Given the description of an element on the screen output the (x, y) to click on. 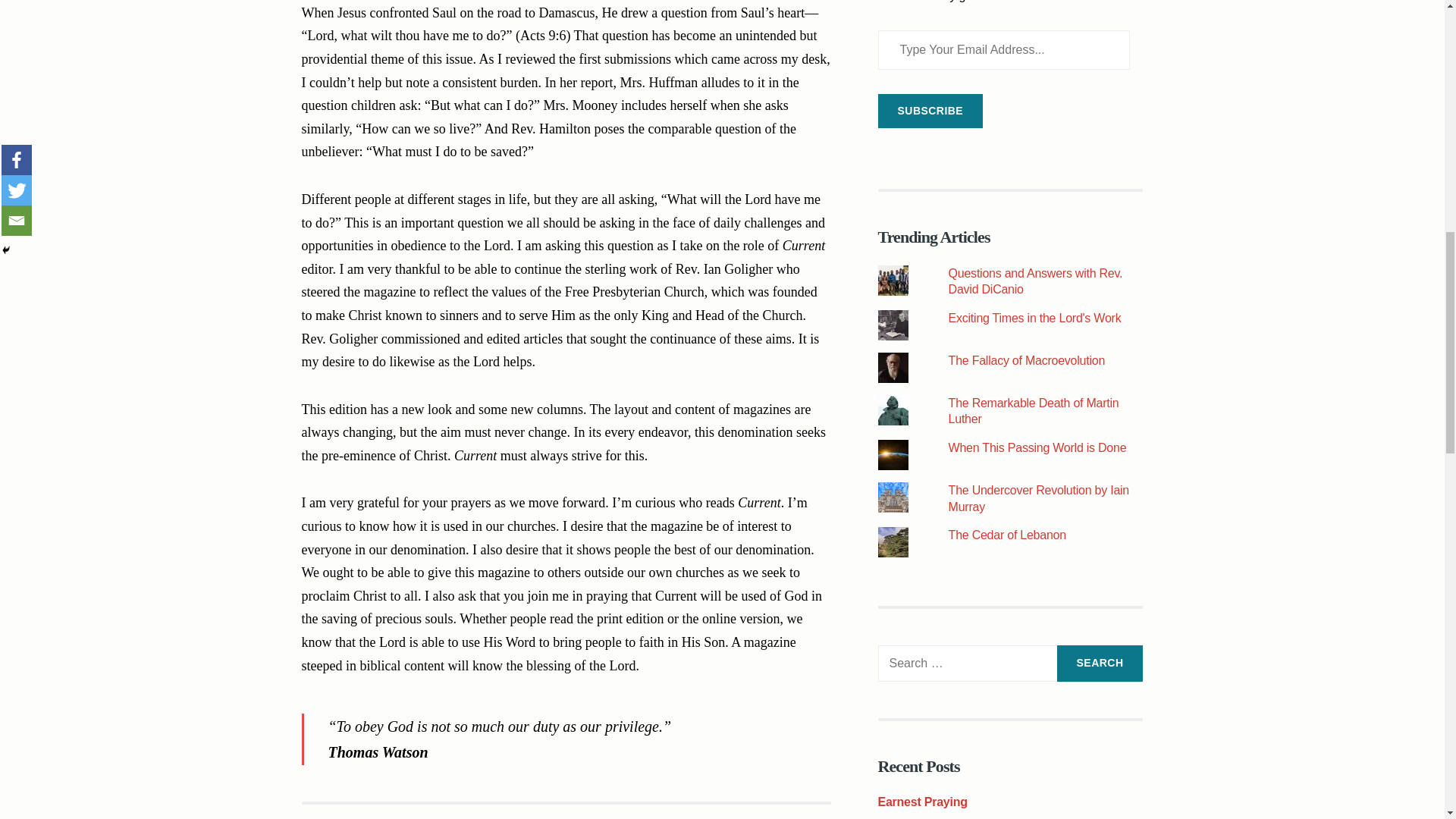
The Remarkable Death of Martin Luther (1034, 410)
Questions and Answers with Rev. David DiCanio (1035, 281)
Exciting Times in the Lord's Work (1035, 318)
Exciting Times in the Lord's Work (1035, 318)
Search (1099, 663)
Questions and Answers with Rev. David DiCanio (1035, 281)
The Remarkable Death of Martin Luther (1034, 410)
The Fallacy of Macroevolution (1027, 359)
The Fallacy of Macroevolution (1027, 359)
Search (1099, 663)
SUBSCRIBE (930, 111)
